Given the description of an element on the screen output the (x, y) to click on. 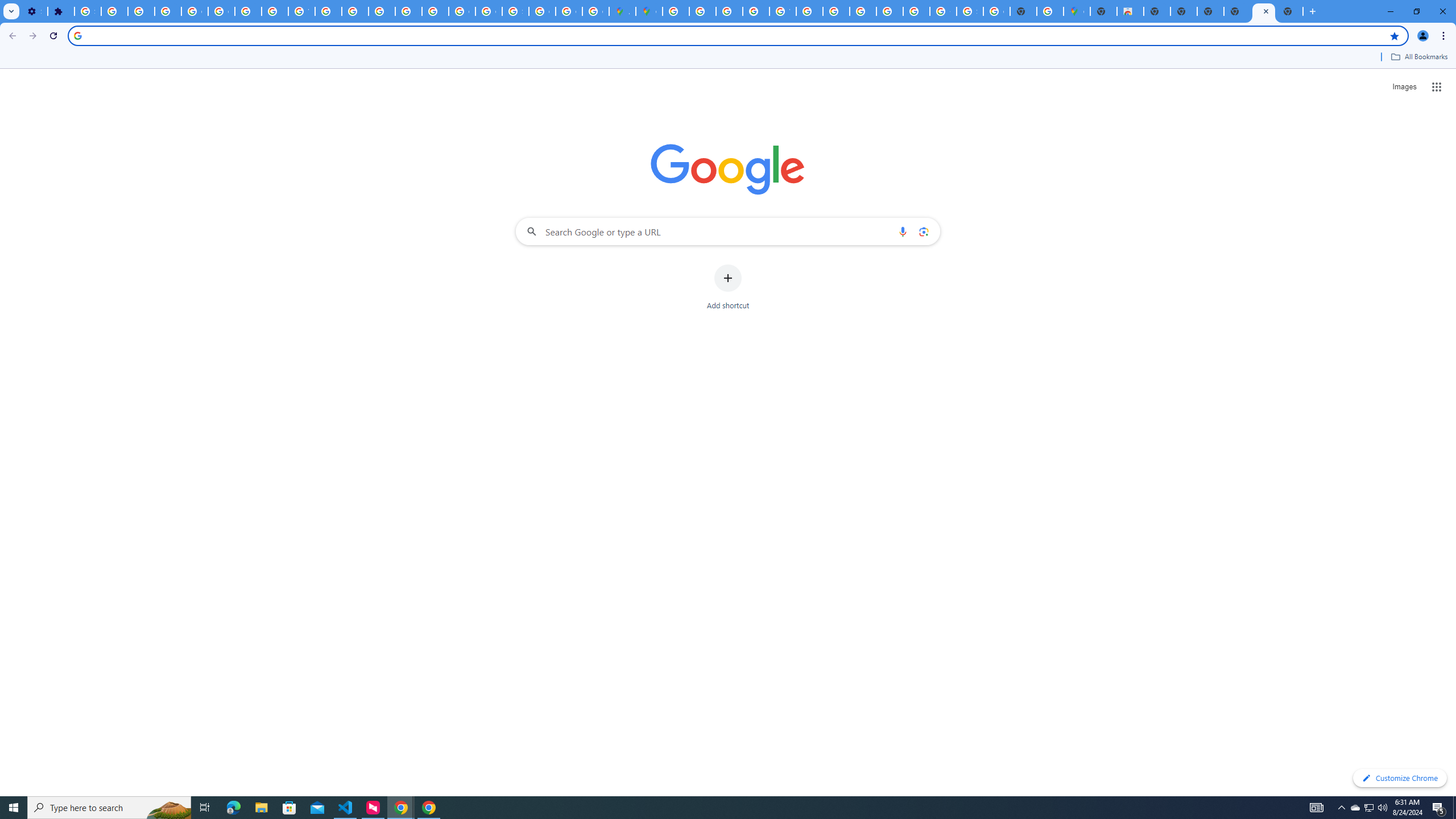
New Tab (1103, 11)
YouTube (301, 11)
Sign in - Google Accounts (87, 11)
Google Account Help (221, 11)
Search for Images  (1403, 87)
Delete photos & videos - Computer - Google Photos Help (114, 11)
Extensions (61, 11)
Browse Chrome as a guest - Computer - Google Chrome Help (862, 11)
